Given the description of an element on the screen output the (x, y) to click on. 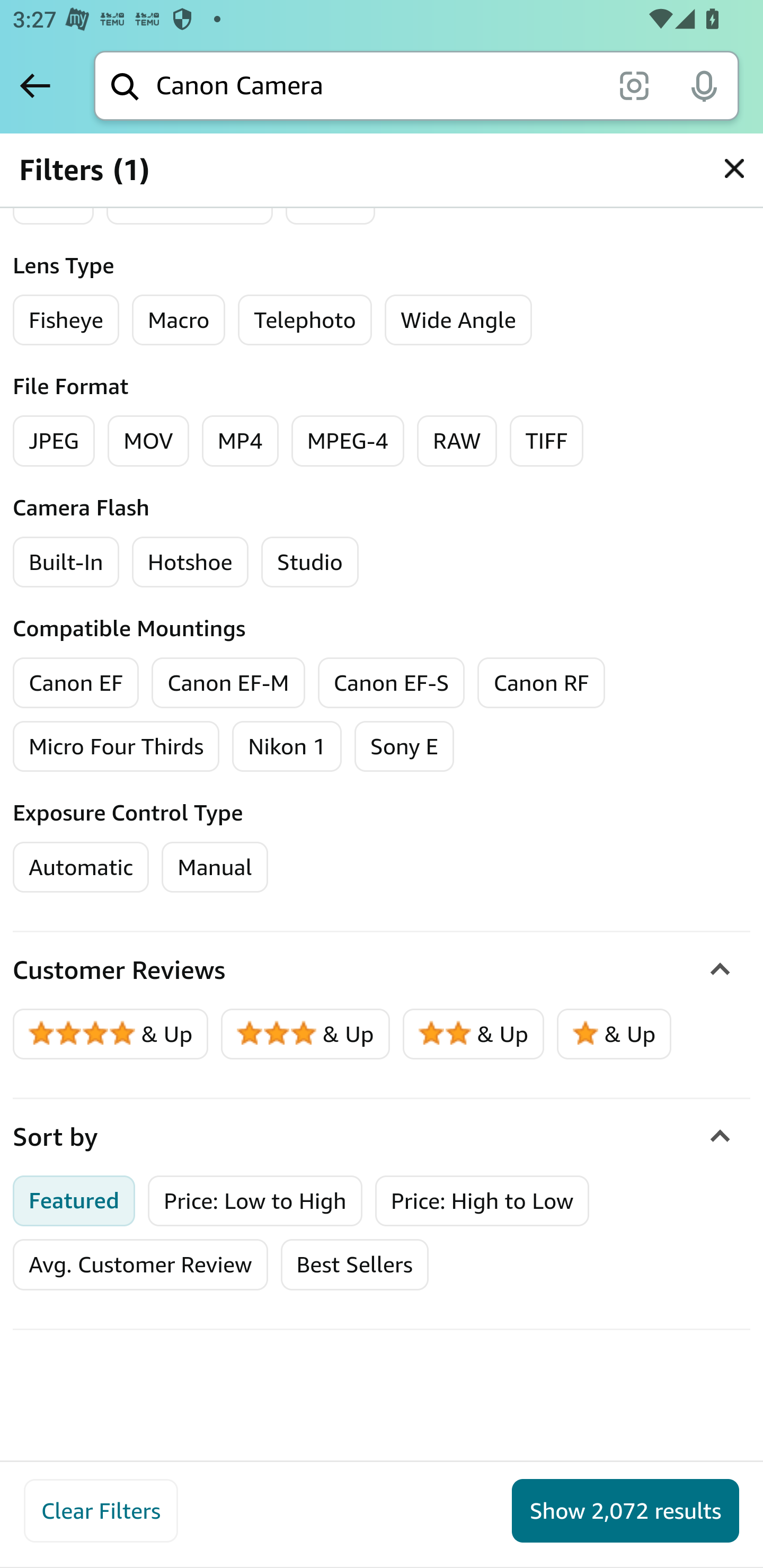
Back (35, 85)
scan it (633, 85)
Fisheye (65, 320)
Macro (177, 320)
Telephoto (304, 320)
Wide Angle (457, 320)
JPEG (53, 441)
MOV (147, 441)
MP4 (239, 441)
MPEG-4 (347, 441)
RAW (456, 441)
TIFF (546, 441)
Built-In (65, 562)
Hotshoe (189, 562)
Studio (309, 562)
Canon EF (75, 682)
Canon EF-M (228, 682)
Canon EF-S (390, 682)
Canon RF (540, 682)
Micro Four Thirds (116, 746)
Nikon 1 (286, 746)
Sony E (403, 746)
Automatic (80, 866)
Manual (214, 866)
Customer Reviews (381, 970)
4 Stars & Up (110, 1033)
3 Stars & Up (305, 1033)
2 Stars & Up (473, 1033)
1 Star & Up (614, 1033)
Sort by (381, 1136)
Price: Low to High (255, 1200)
Price: High to Low (481, 1200)
Avg. Customer Review (140, 1264)
Best Sellers (354, 1264)
Clear Filters (100, 1510)
Show 2,072 results (625, 1510)
